Given the description of an element on the screen output the (x, y) to click on. 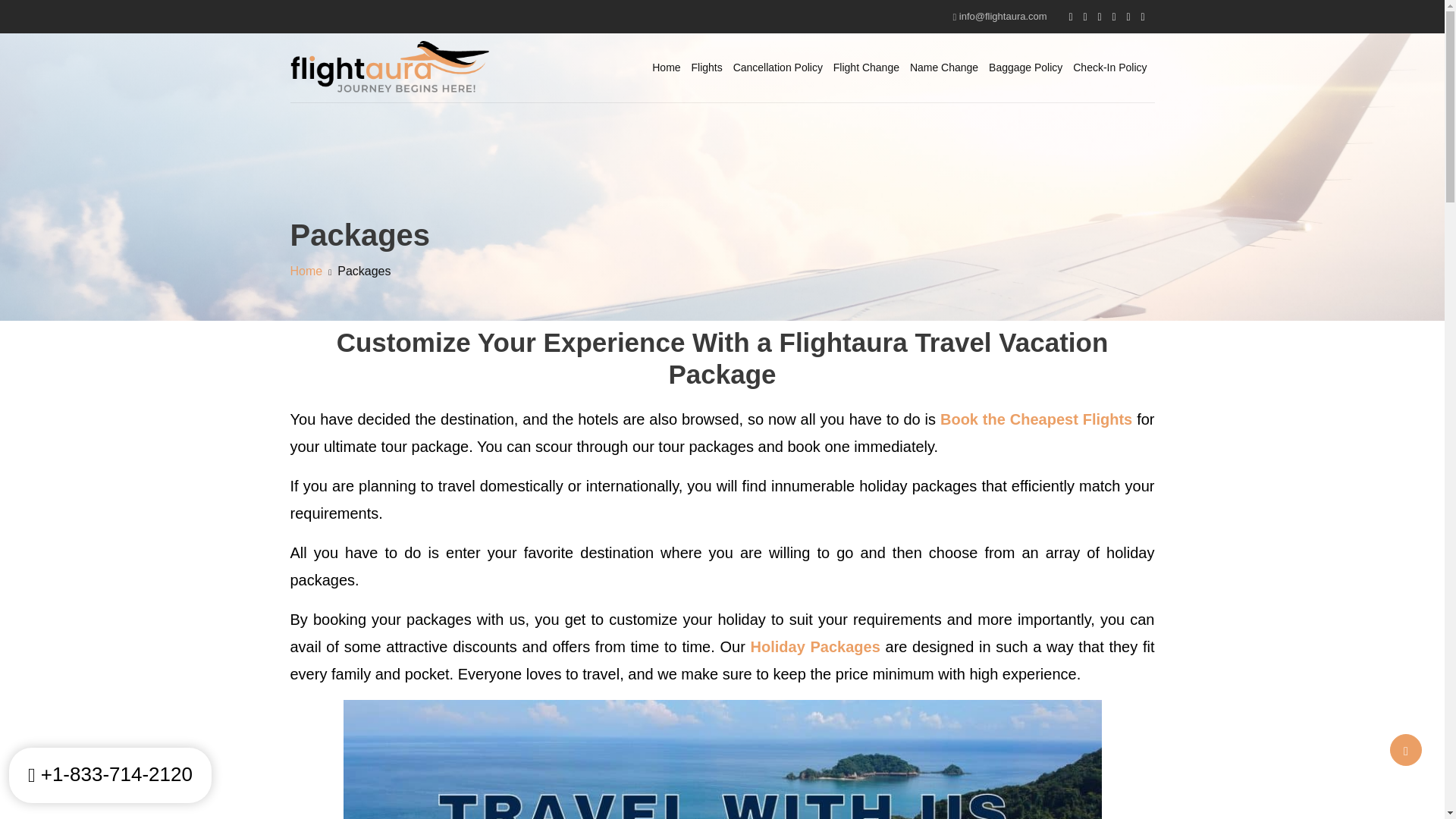
Book the Cheapest Flights (1036, 419)
Cancellation Policy (777, 67)
Name Change (944, 67)
Home (305, 270)
Flightaura Travel Vacation Package (721, 759)
Flight Change (865, 67)
Check-In Policy (1110, 67)
Baggage Policy (1025, 67)
Holiday Packages (815, 646)
